Given the description of an element on the screen output the (x, y) to click on. 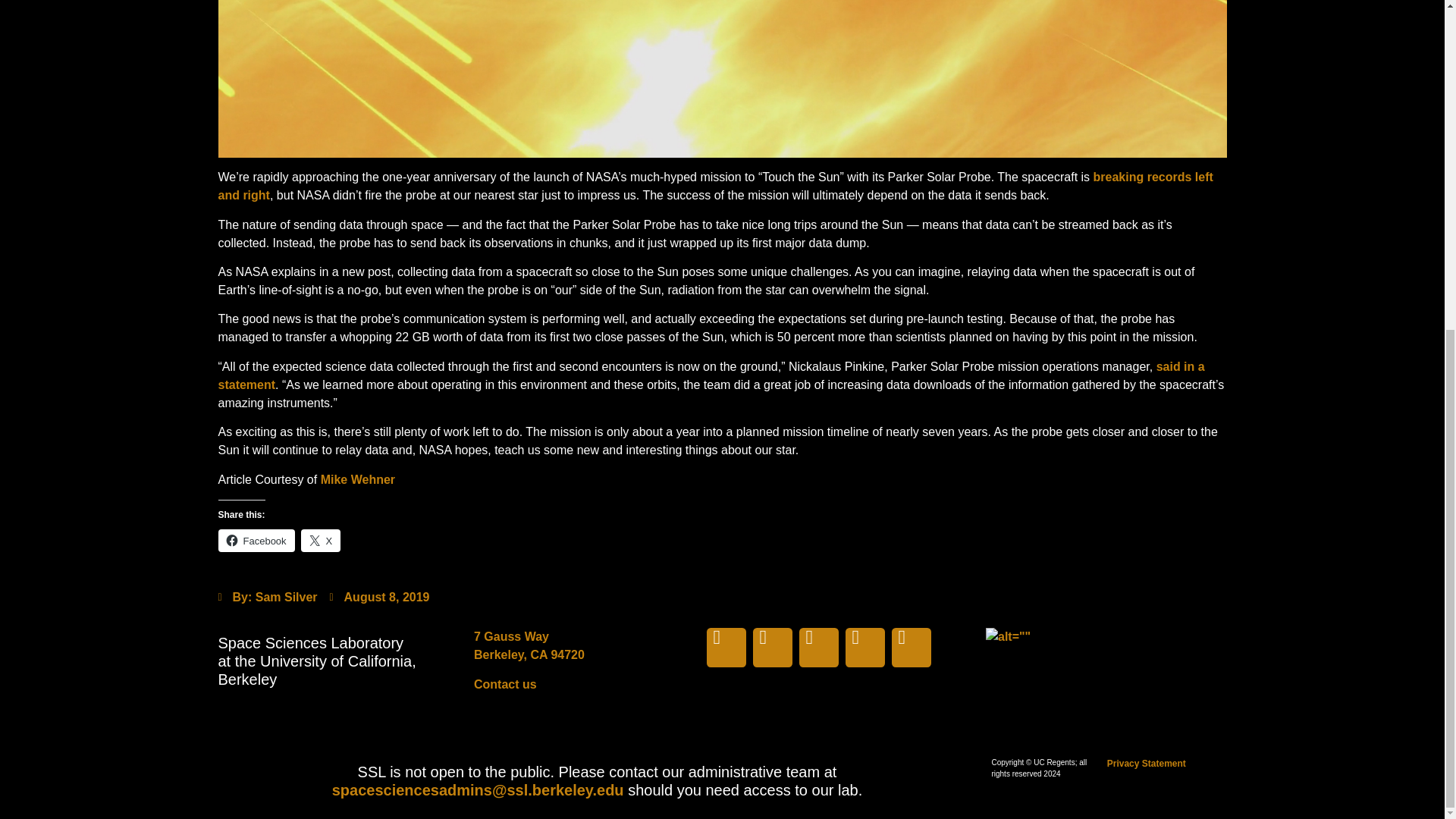
Click to share on Facebook (256, 540)
Click to share on X (320, 540)
